Given the description of an element on the screen output the (x, y) to click on. 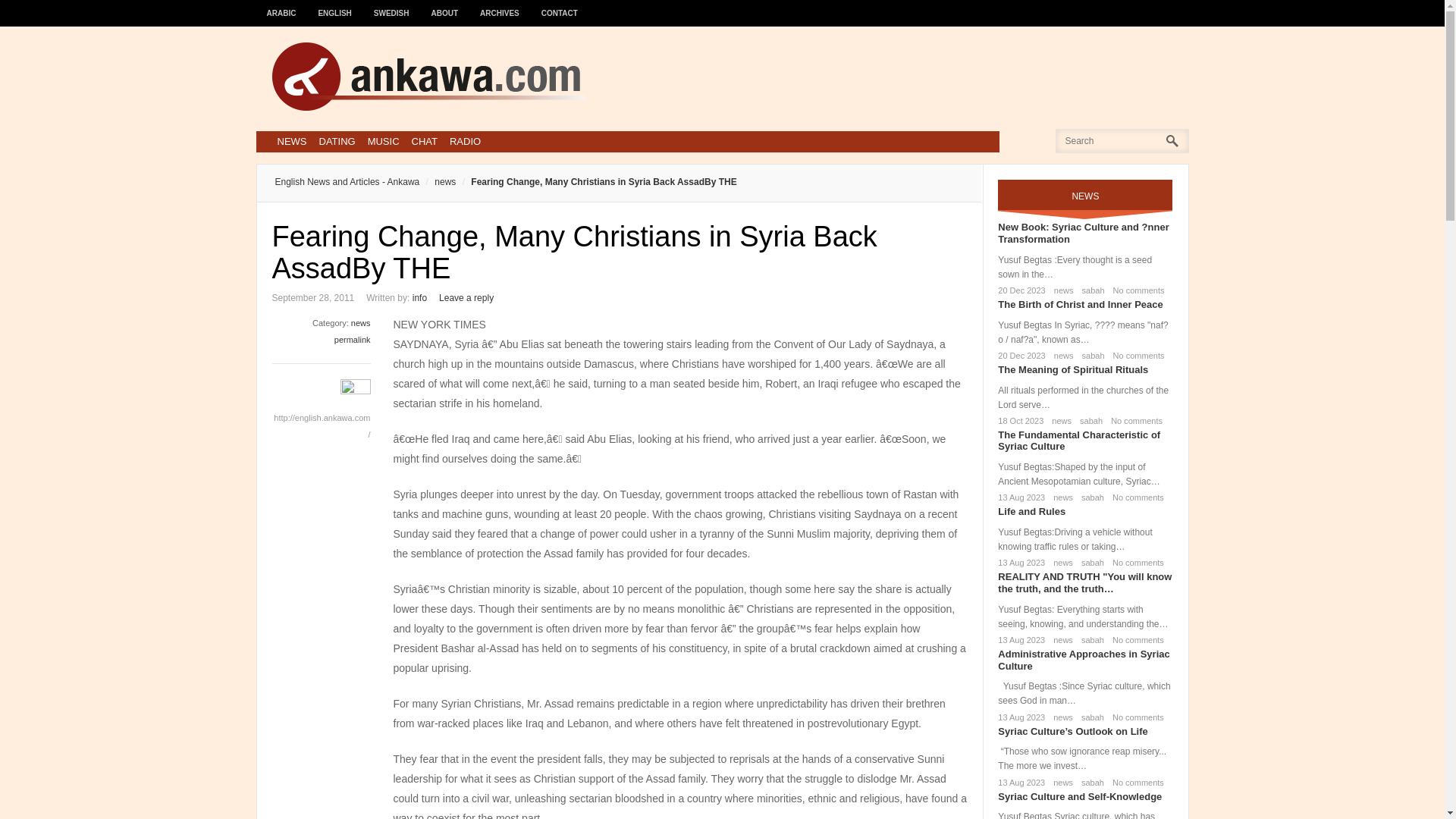
news (360, 322)
ABOUT (445, 5)
sabah (1090, 289)
No comments (1133, 420)
Life and Rules (1031, 511)
ARCHIVES (499, 5)
sabah (1090, 355)
Life and Rules (1031, 511)
NEWS (291, 141)
MUSIC (383, 141)
info (419, 297)
The Meaning of Spiritual Rituals (1072, 369)
ARABIC (281, 5)
New Book: Syriac Culture and ?nner Transformation (1083, 232)
news (1058, 420)
